Given the description of an element on the screen output the (x, y) to click on. 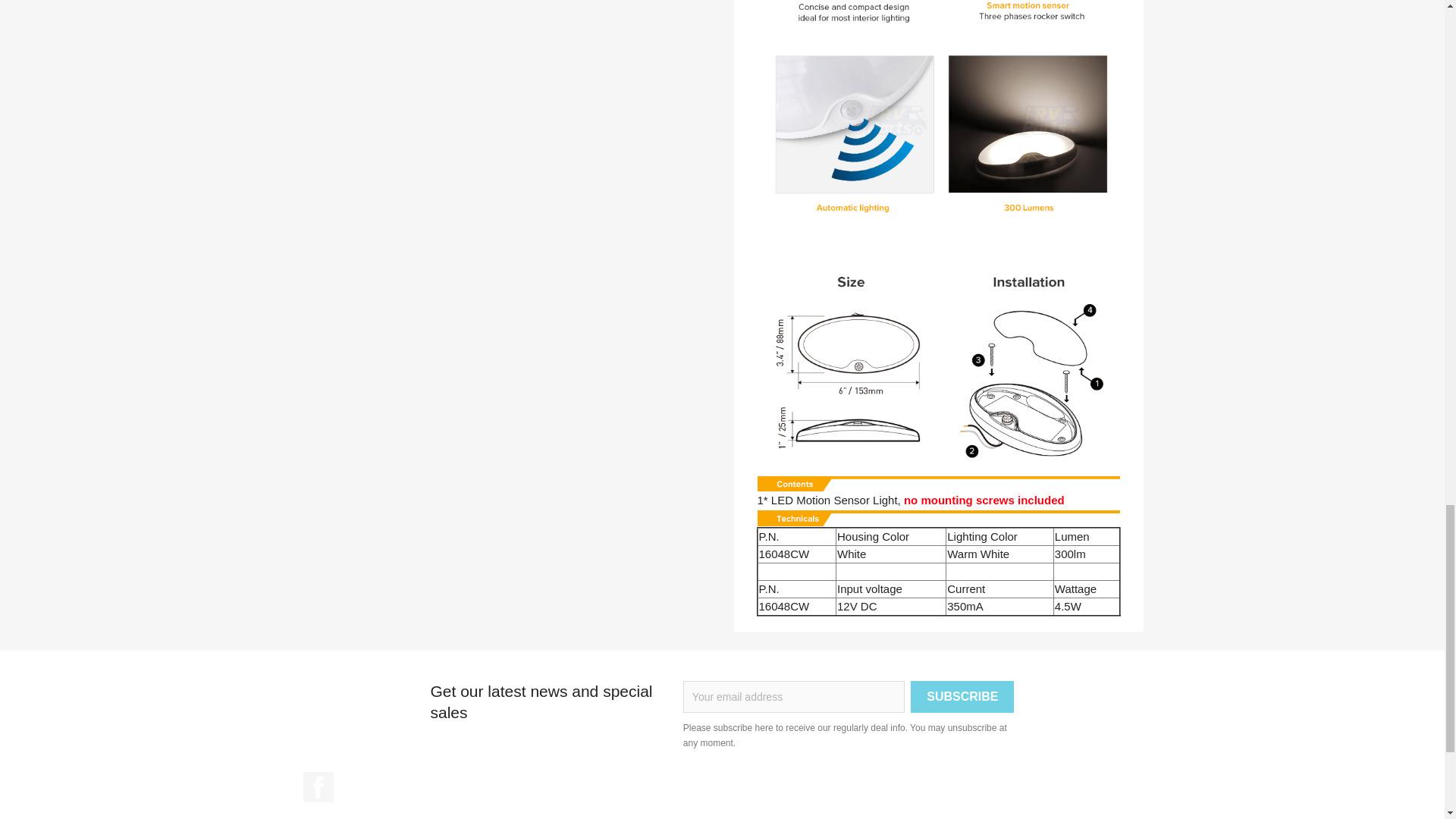
Subscribe (962, 696)
Facebook (317, 787)
Subscribe (962, 696)
